Given the description of an element on the screen output the (x, y) to click on. 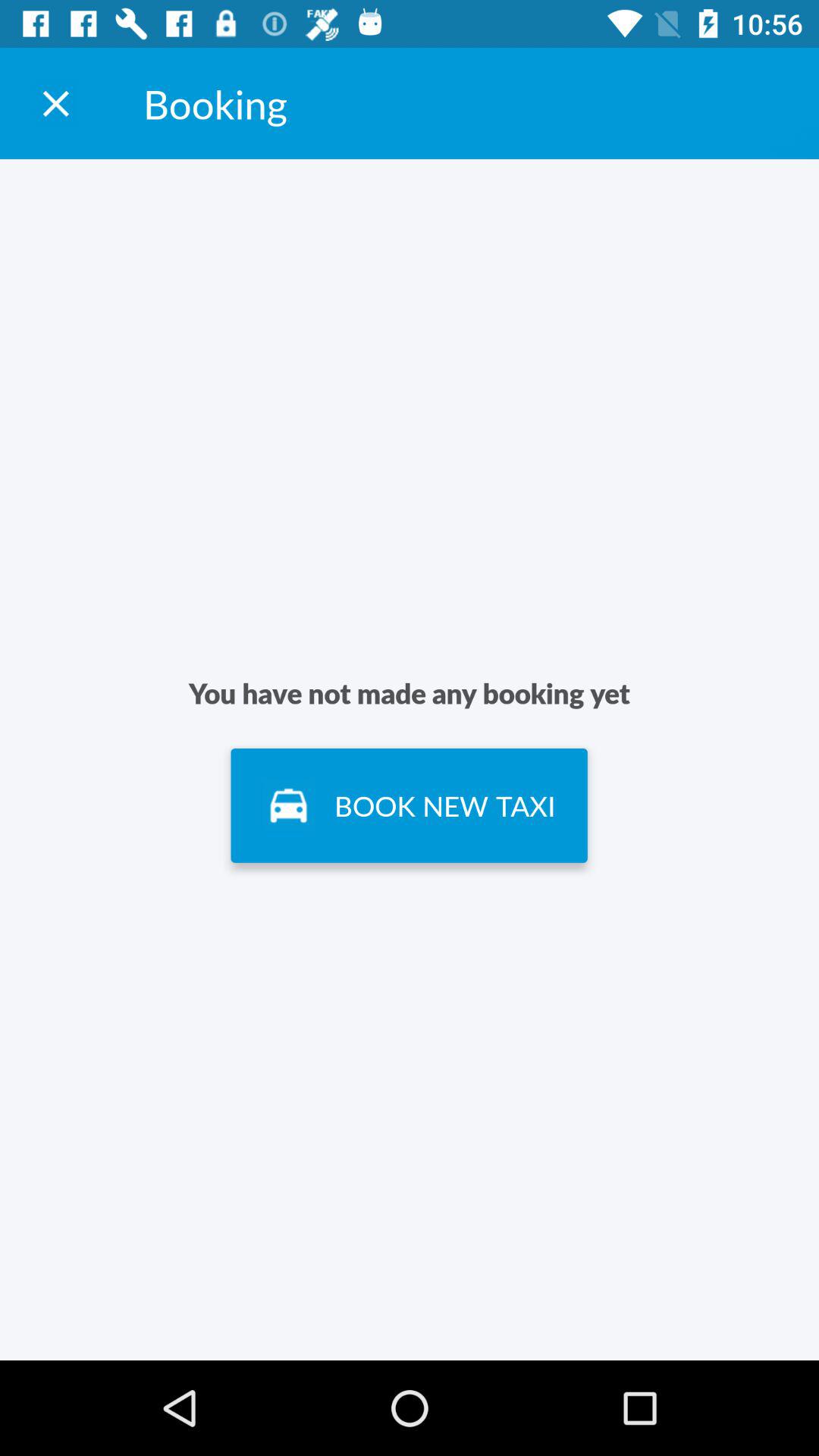
jump until the book new taxi (408, 805)
